Given the description of an element on the screen output the (x, y) to click on. 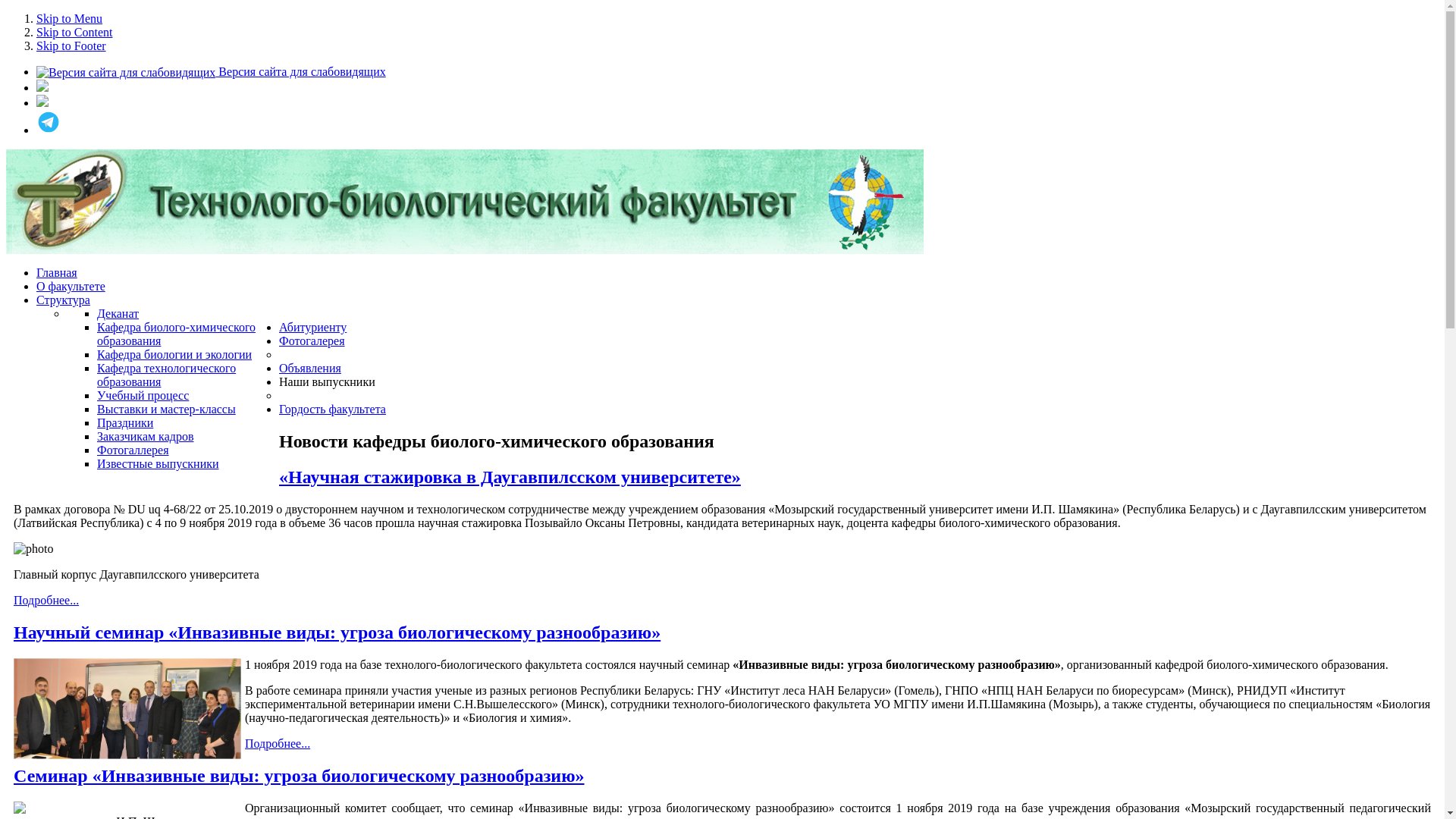
Skip to Content Element type: text (74, 31)
Skip to Footer Element type: text (71, 45)
Skip to Menu Element type: text (69, 18)
